Given the description of an element on the screen output the (x, y) to click on. 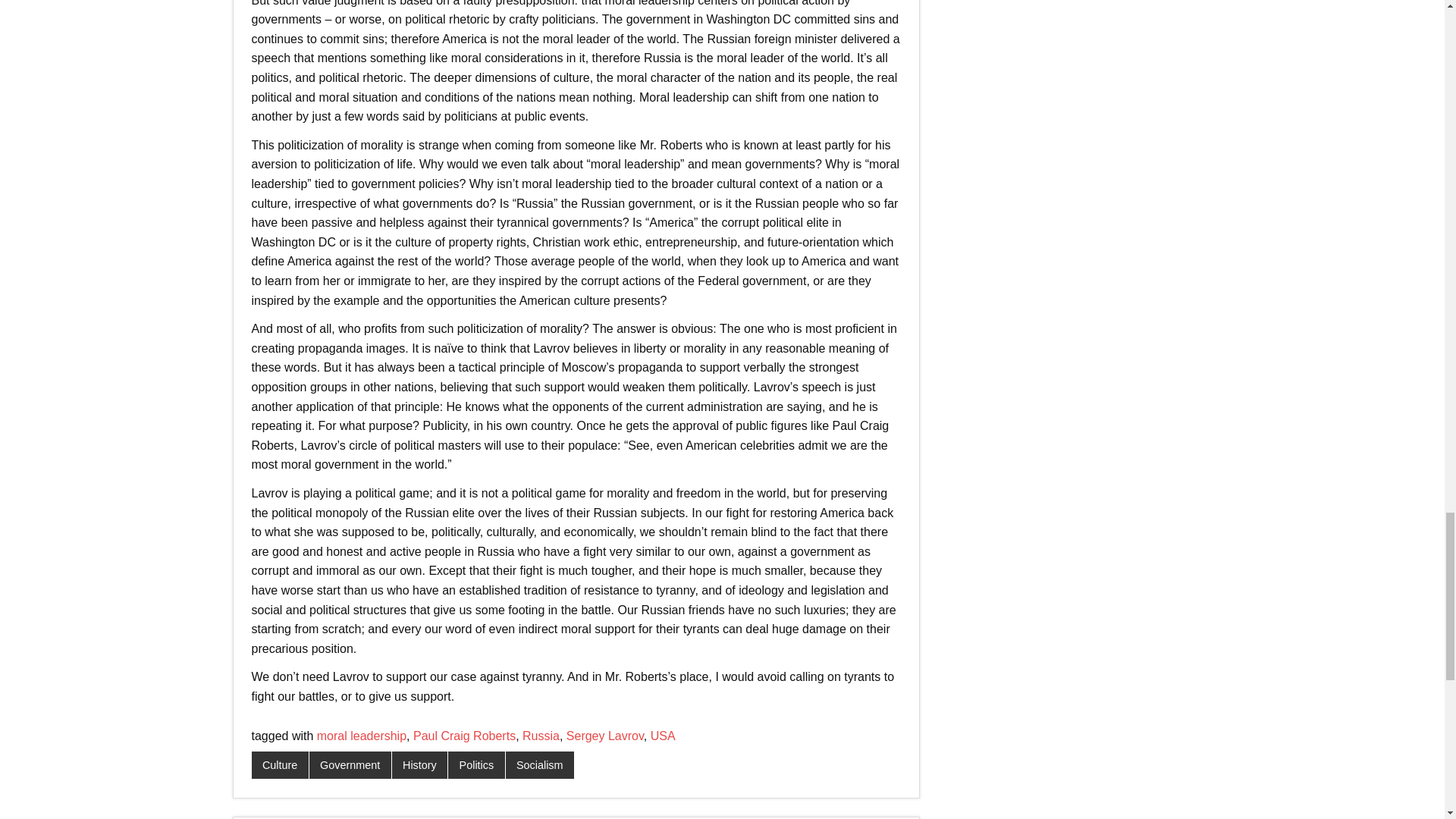
History (419, 764)
Socialism (539, 764)
Russia (540, 735)
Politics (475, 764)
moral leadership (361, 735)
Culture (279, 764)
Sergey Lavrov (604, 735)
USA (662, 735)
Paul Craig Roberts (464, 735)
Government (349, 764)
